Given the description of an element on the screen output the (x, y) to click on. 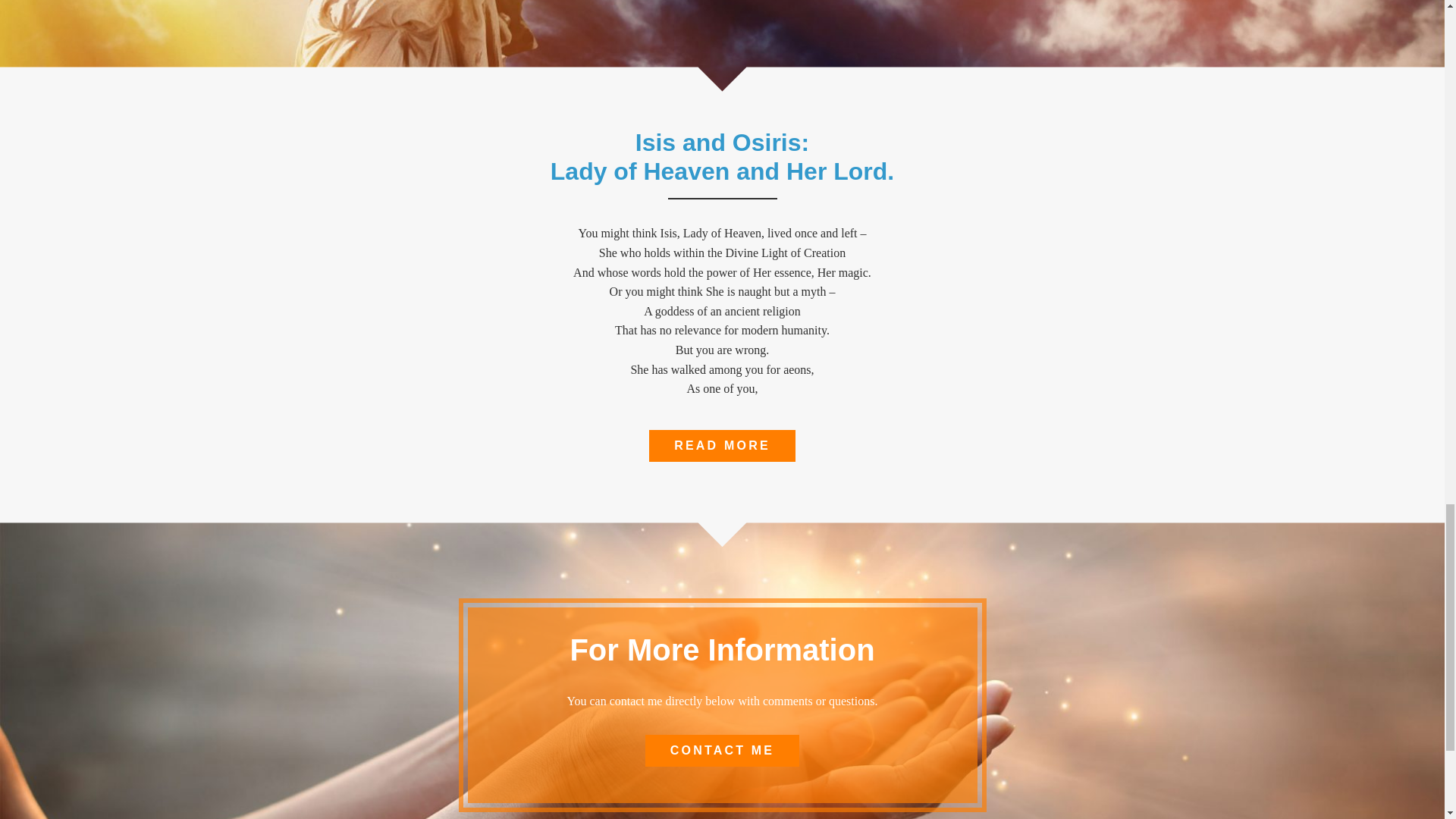
CONTACT ME (722, 750)
READ MORE (721, 445)
